Given the description of an element on the screen output the (x, y) to click on. 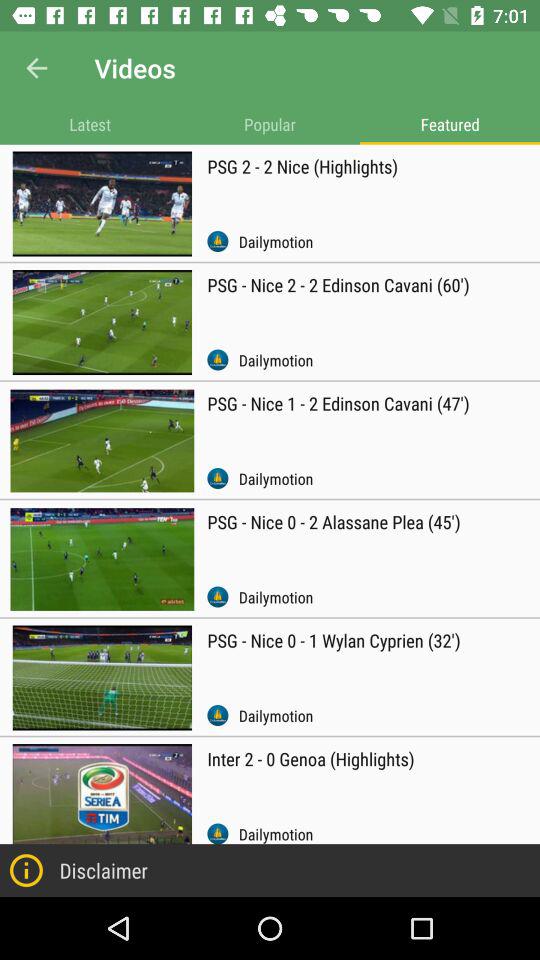
click the icon to the right of the popular item (450, 124)
